Given the description of an element on the screen output the (x, y) to click on. 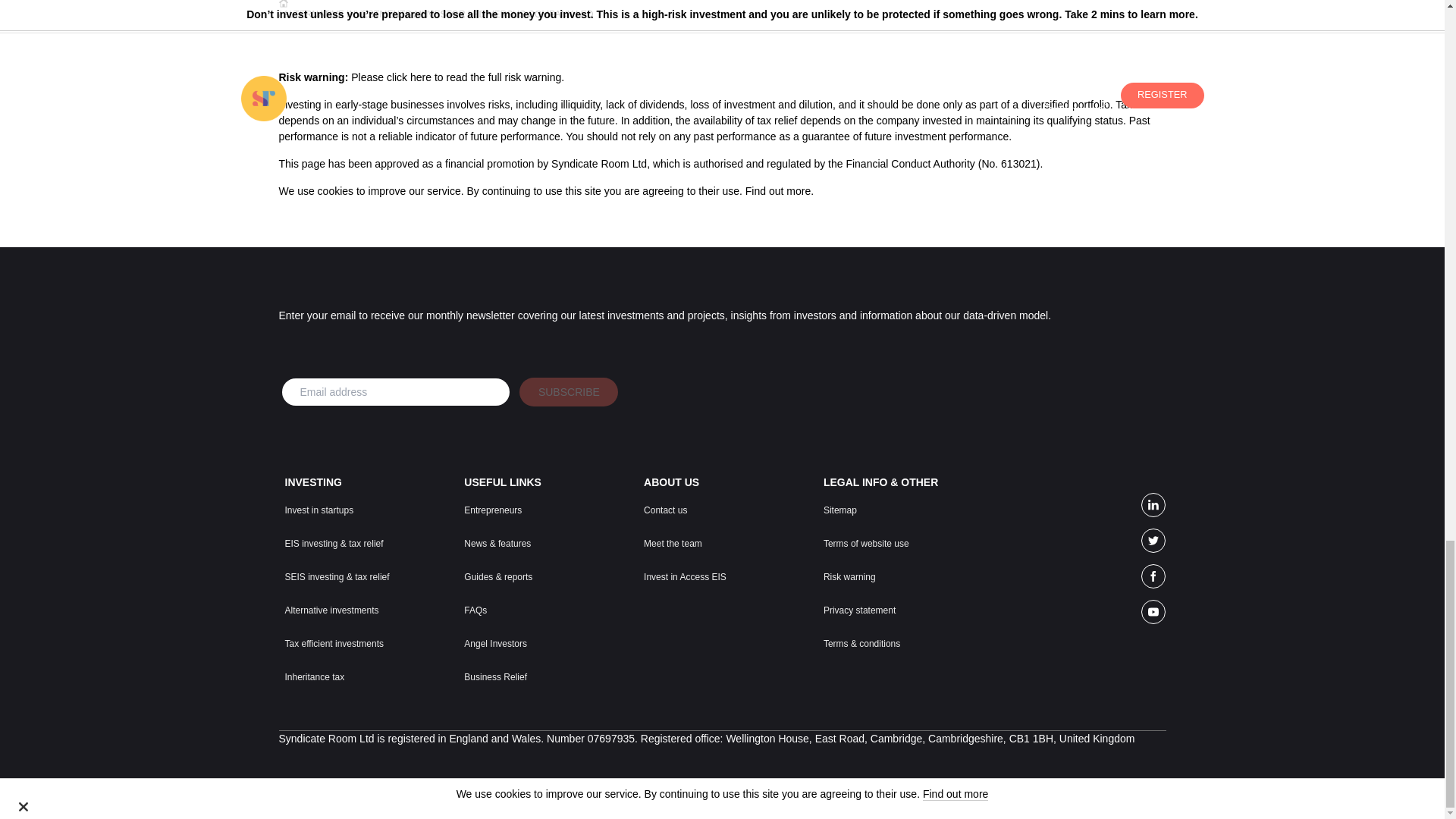
Subscribe (568, 392)
ALTERNATIVE INVESTMENTS (347, 14)
